Given the description of an element on the screen output the (x, y) to click on. 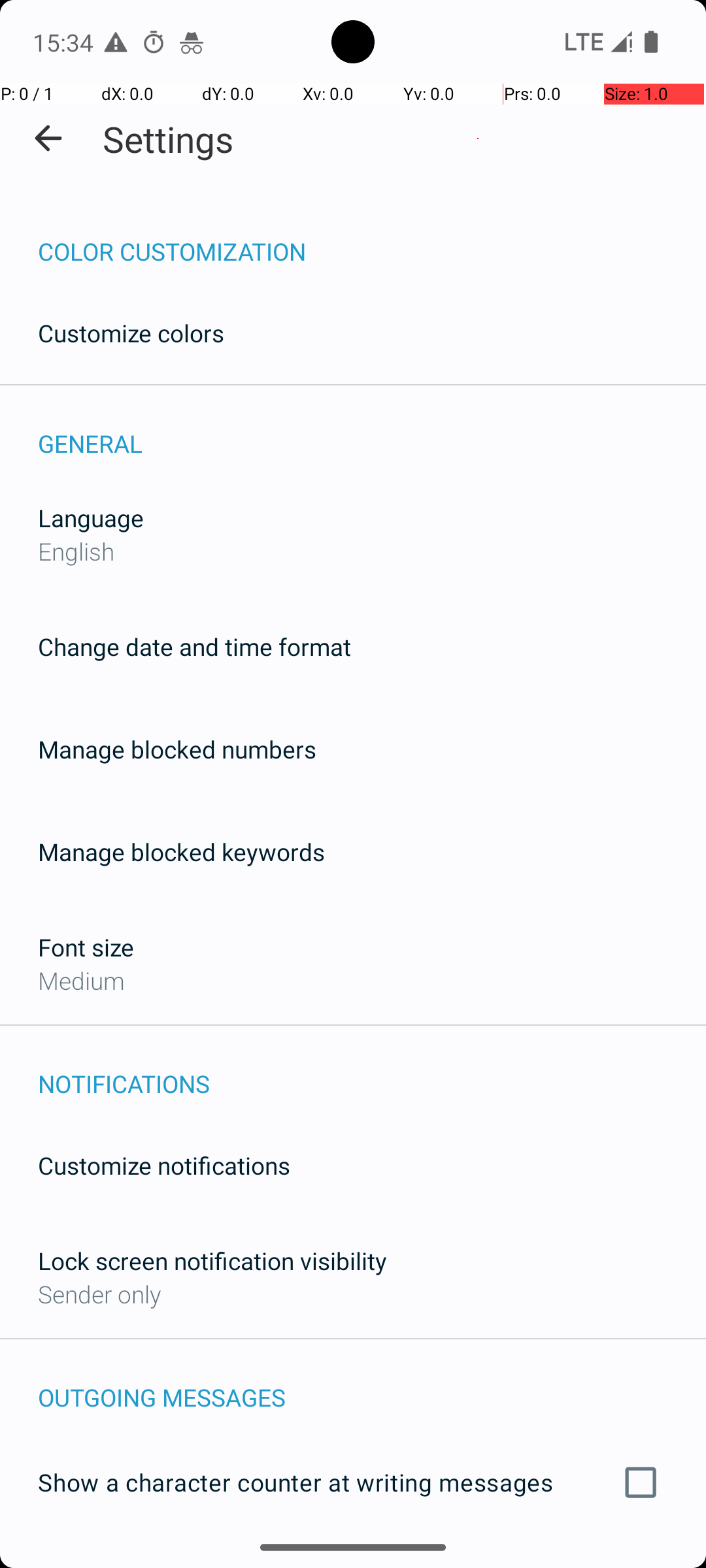
NOTIFICATIONS Element type: android.widget.TextView (371, 1069)
OUTGOING MESSAGES Element type: android.widget.TextView (371, 1383)
Change date and time format Element type: android.widget.TextView (194, 646)
Manage blocked numbers Element type: android.widget.TextView (176, 748)
Manage blocked keywords Element type: android.widget.TextView (180, 851)
Font size Element type: android.widget.TextView (85, 946)
Medium Element type: android.widget.TextView (80, 979)
Lock screen notification visibility Element type: android.widget.TextView (211, 1260)
Sender only Element type: android.widget.TextView (99, 1293)
Show a character counter at writing messages Element type: android.widget.CheckBox (352, 1482)
Remove accents and diacritics at sending messages Element type: android.widget.CheckBox (352, 1559)
